Given the description of an element on the screen output the (x, y) to click on. 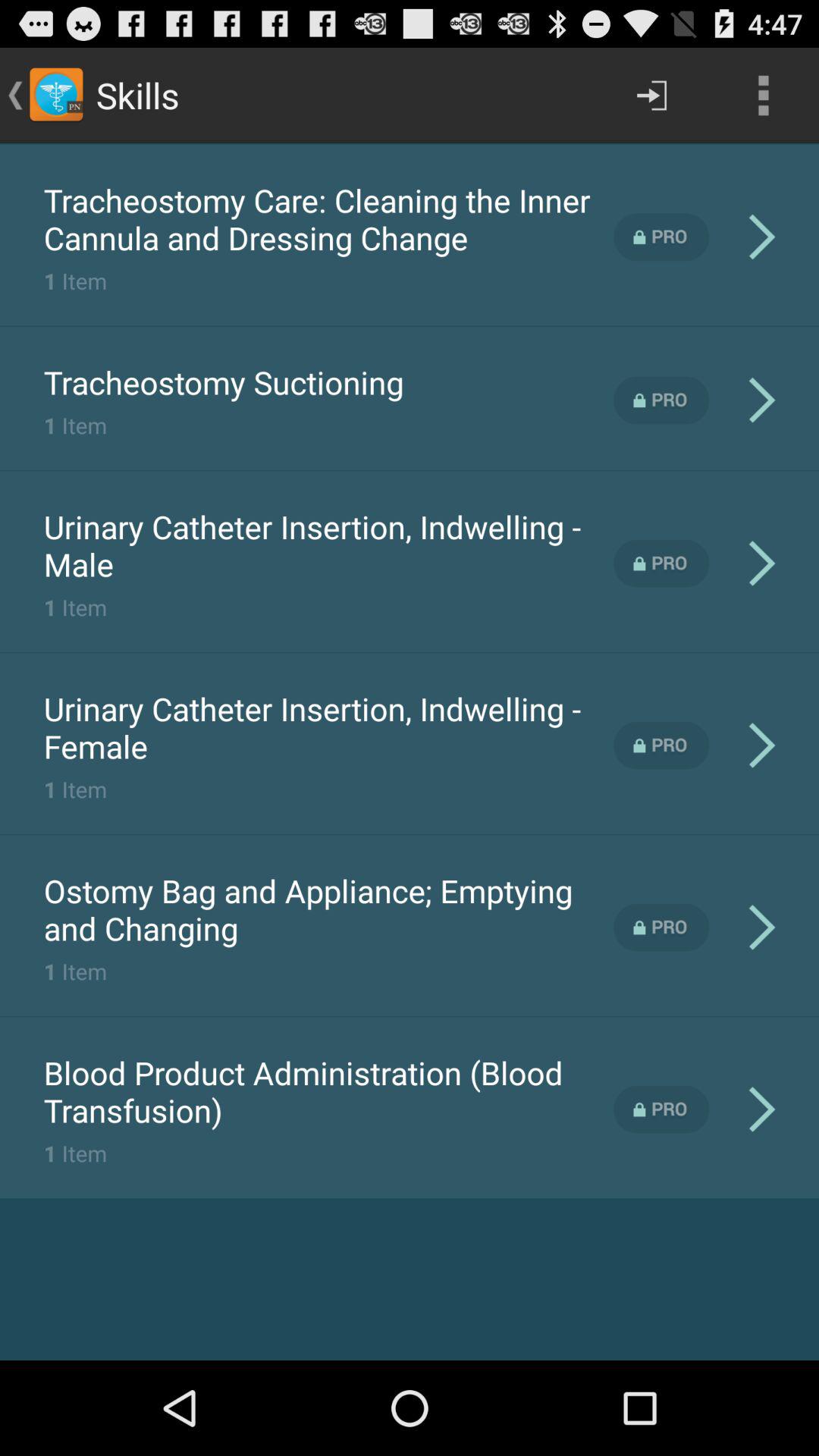
need pro addition to unlock category (661, 400)
